Given the description of an element on the screen output the (x, y) to click on. 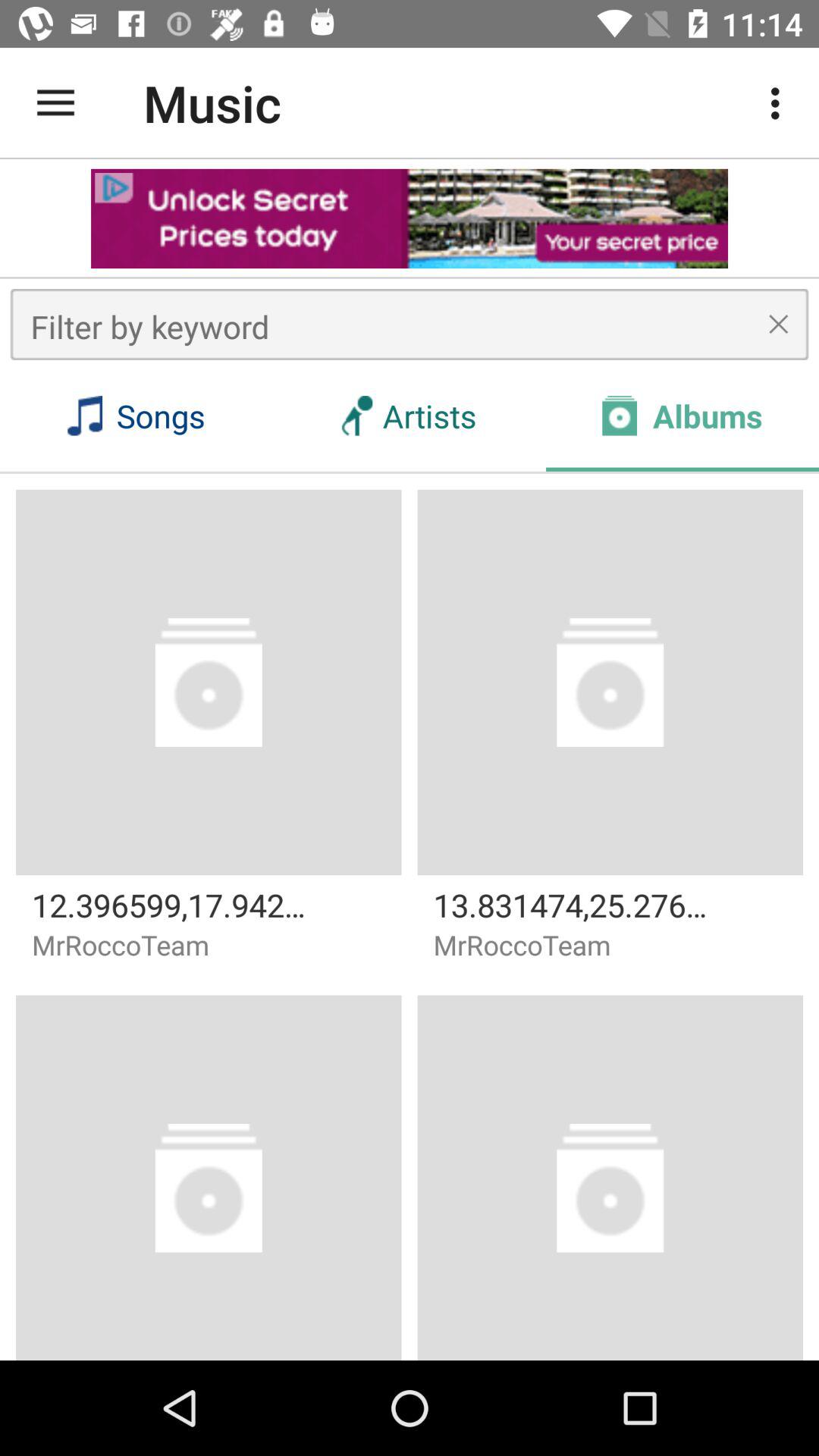
delete keyword search box (778, 324)
